Given the description of an element on the screen output the (x, y) to click on. 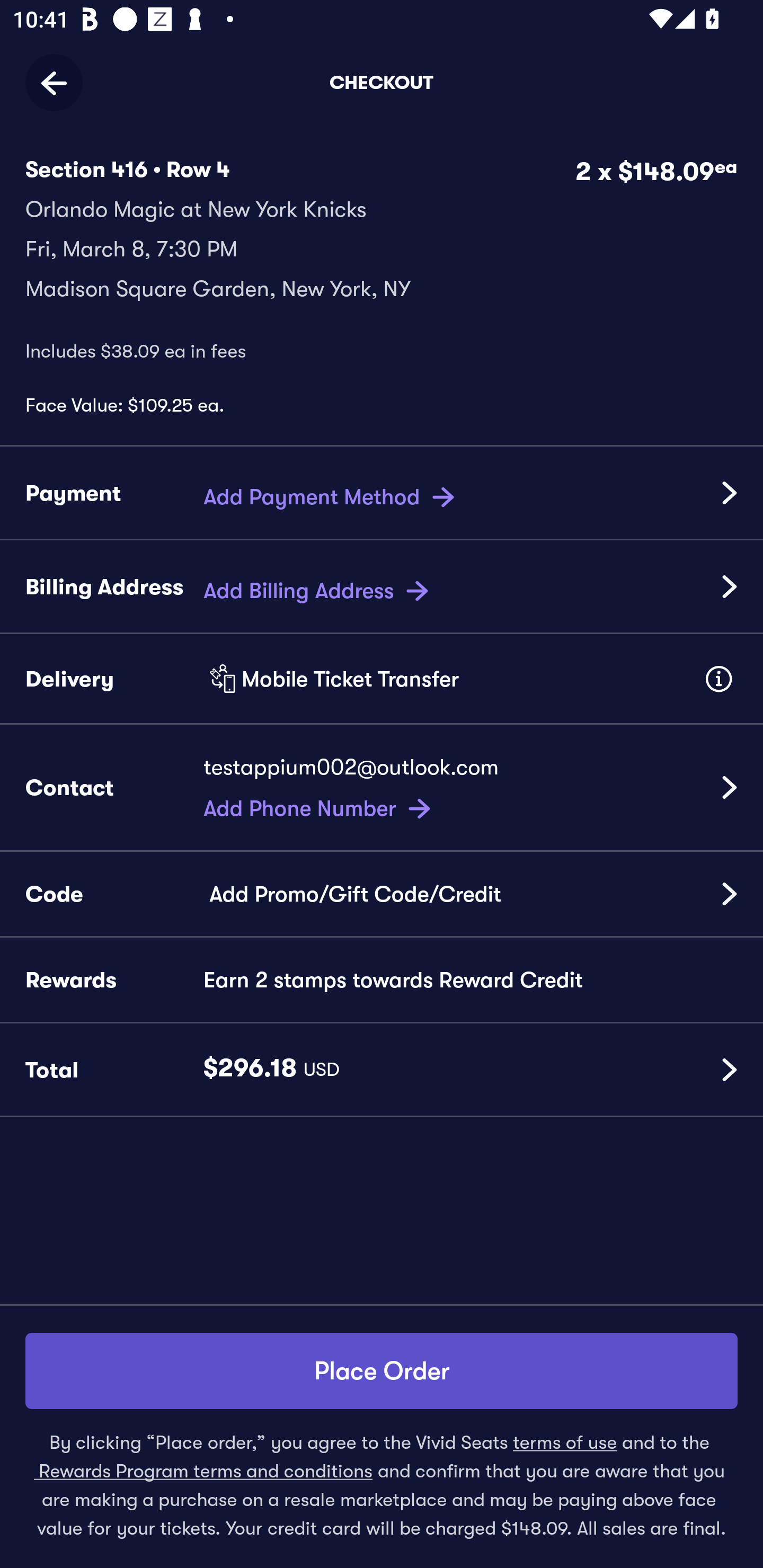
Back (60, 82)
Payment Add Payment Method (381, 493)
Add Payment Method (331, 491)
Billing Address Add Billing Address (381, 586)
Add Billing Address (318, 586)
Delivery Mobile Ticket Transfer (381, 678)
Contact testappium002@outlook.com Add Phone Number (381, 787)
Add Phone Number (319, 804)
Code  Add Promo/Gift Code/Credit (381, 894)
Rewards Earn 2 stamps towards Reward Credit (381, 980)
Total $296.18 USD (381, 1069)
Place Order (381, 1370)
terms of use (564, 1442)
 Rewards Program terms and conditions (203, 1470)
